Given the description of an element on the screen output the (x, y) to click on. 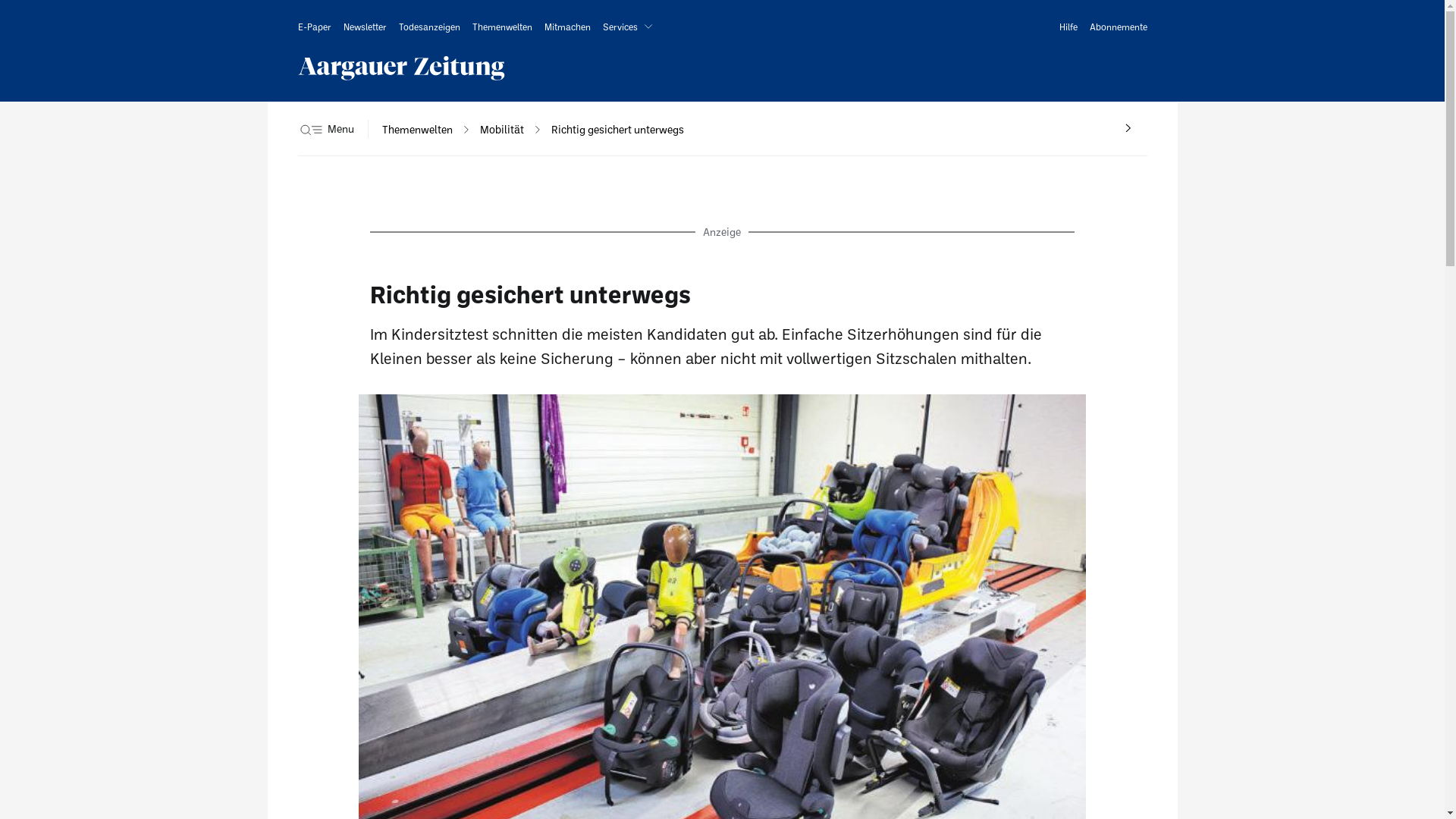
Themenwelten Element type: text (417, 129)
Abonnemente Element type: text (1117, 26)
Menu Element type: text (325, 128)
E-Paper Element type: text (313, 26)
Mitmachen Element type: text (567, 26)
Hilfe Element type: text (1067, 26)
Themenwelten Element type: text (501, 26)
Services Element type: text (630, 26)
Newsletter Element type: text (363, 26)
Menu Element type: text (339, 128)
Todesanzeigen Element type: text (429, 26)
